Given the description of an element on the screen output the (x, y) to click on. 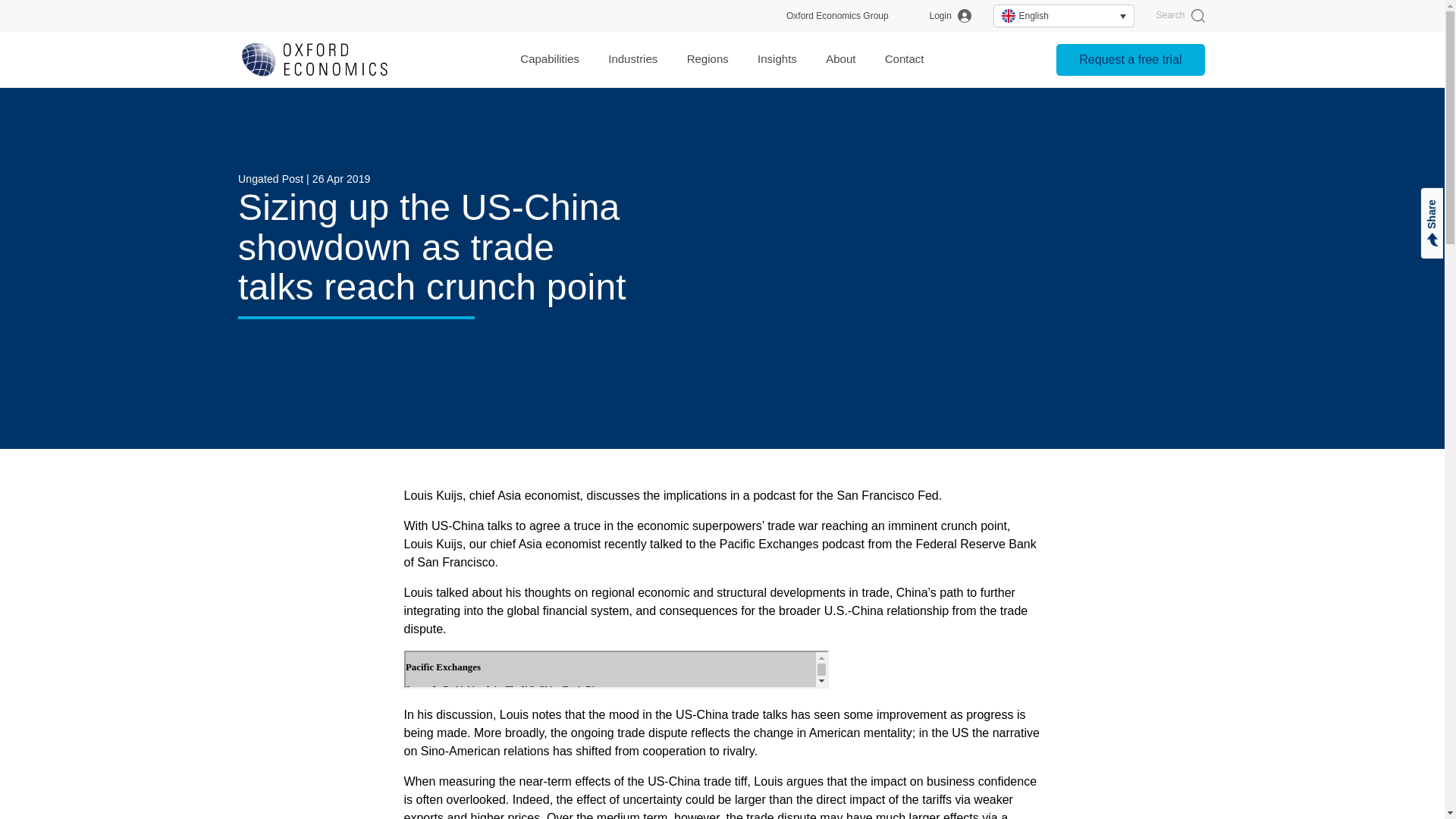
Search (1180, 15)
Capabilities (549, 58)
Industries (633, 58)
English (1063, 15)
Login (950, 15)
Oxford Economics Group (837, 15)
